Given the description of an element on the screen output the (x, y) to click on. 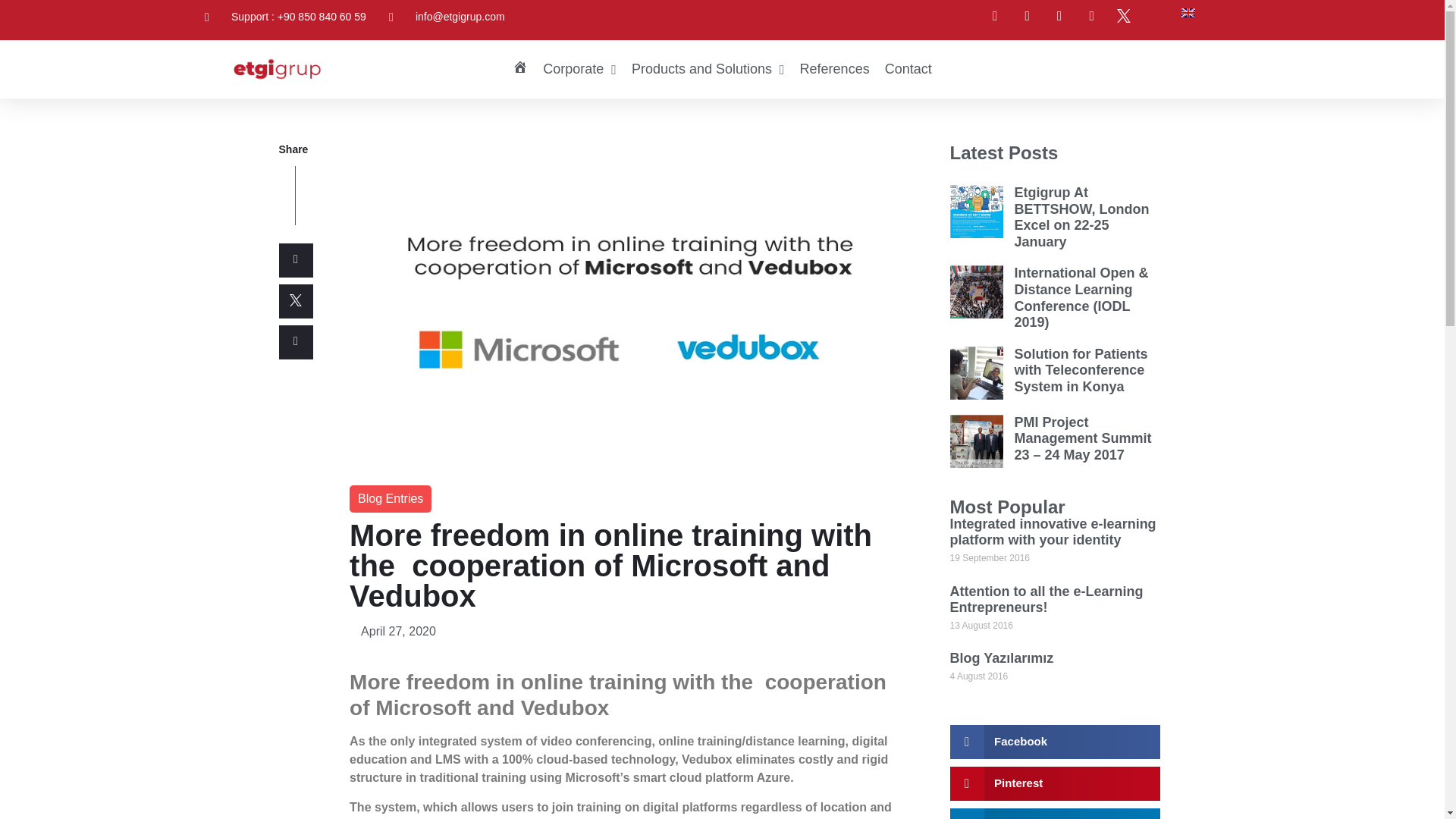
Home (520, 68)
Products and Solutions (708, 68)
Corporate (579, 68)
